Given the description of an element on the screen output the (x, y) to click on. 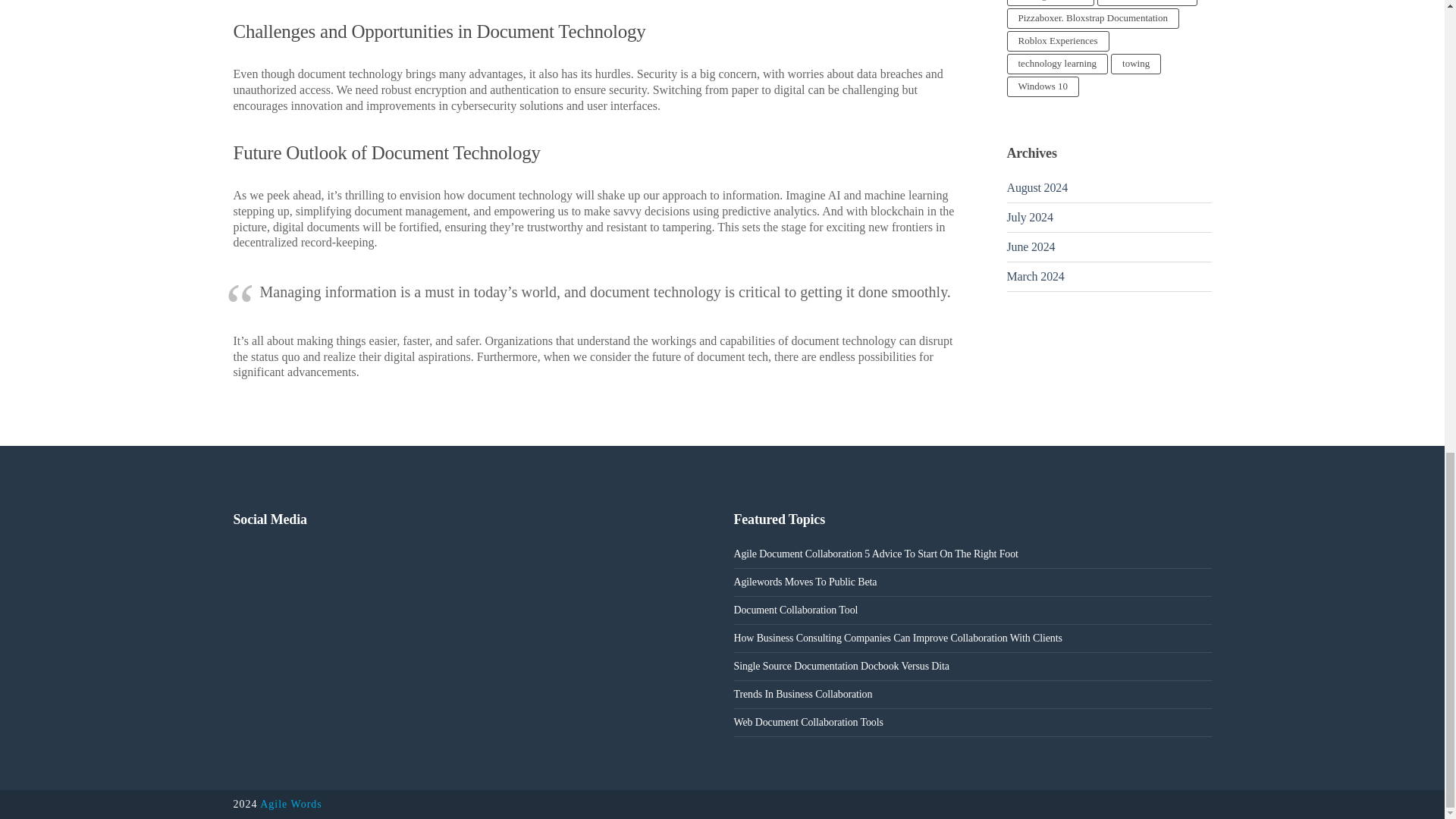
Pizzaboxer. Bloxstrap Documentation (1093, 18)
filtered information (1146, 2)
file organization (1050, 2)
